Given the description of an element on the screen output the (x, y) to click on. 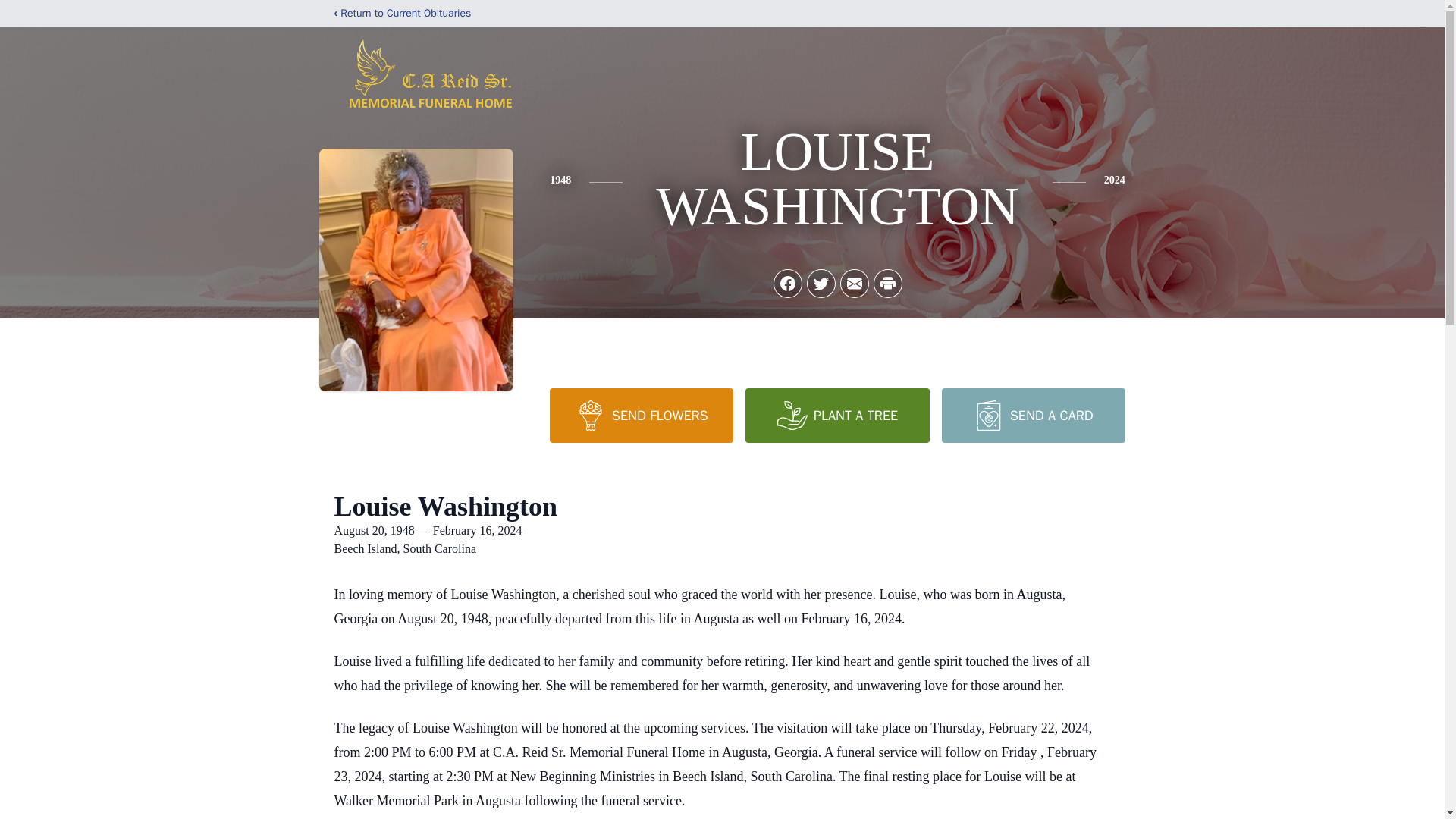
SEND FLOWERS (641, 415)
PLANT A TREE (836, 415)
SEND A CARD (1033, 415)
